Given the description of an element on the screen output the (x, y) to click on. 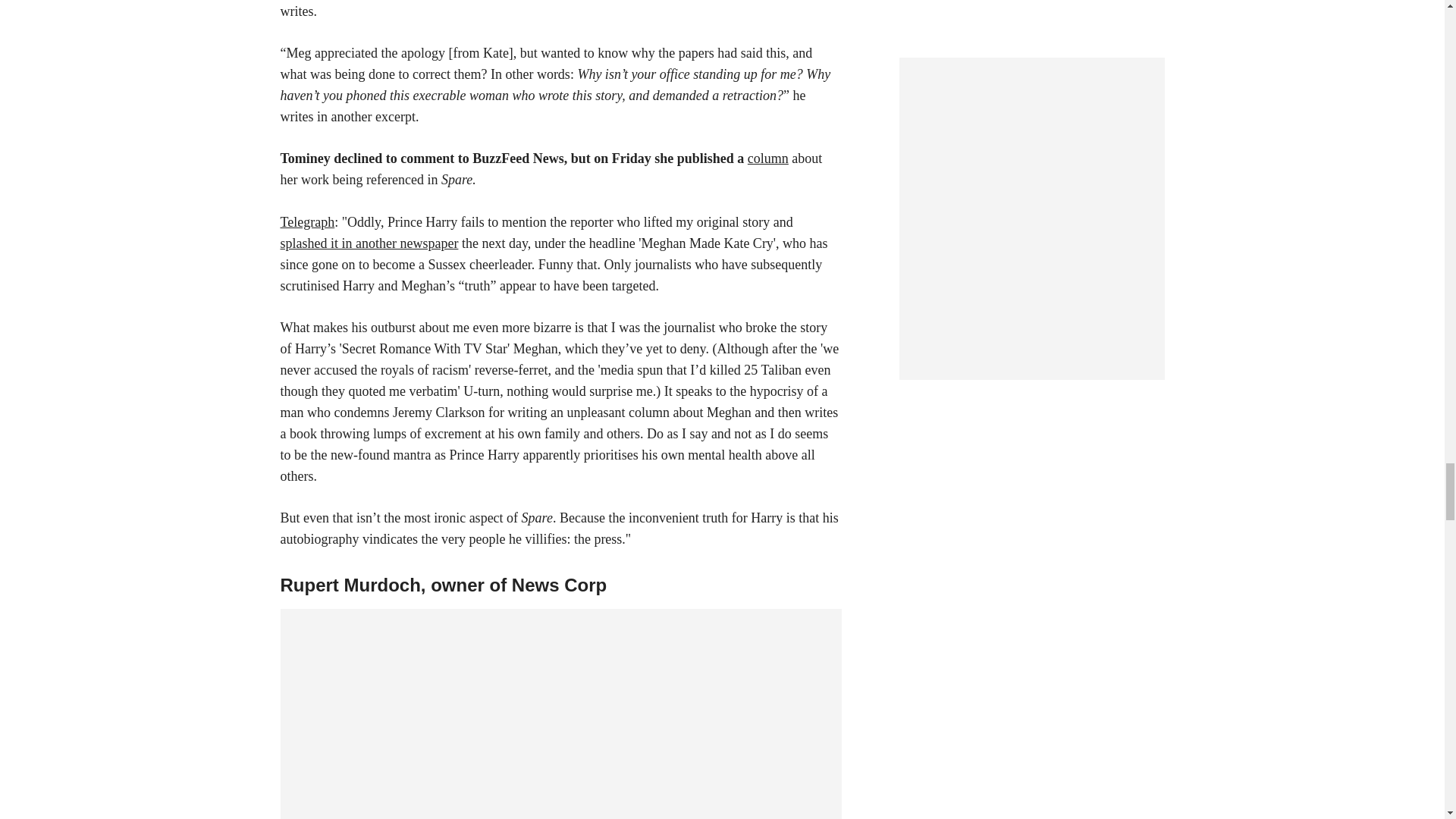
column (768, 158)
Telegraph (307, 222)
splashed it in another newspaper (369, 242)
